Given the description of an element on the screen output the (x, y) to click on. 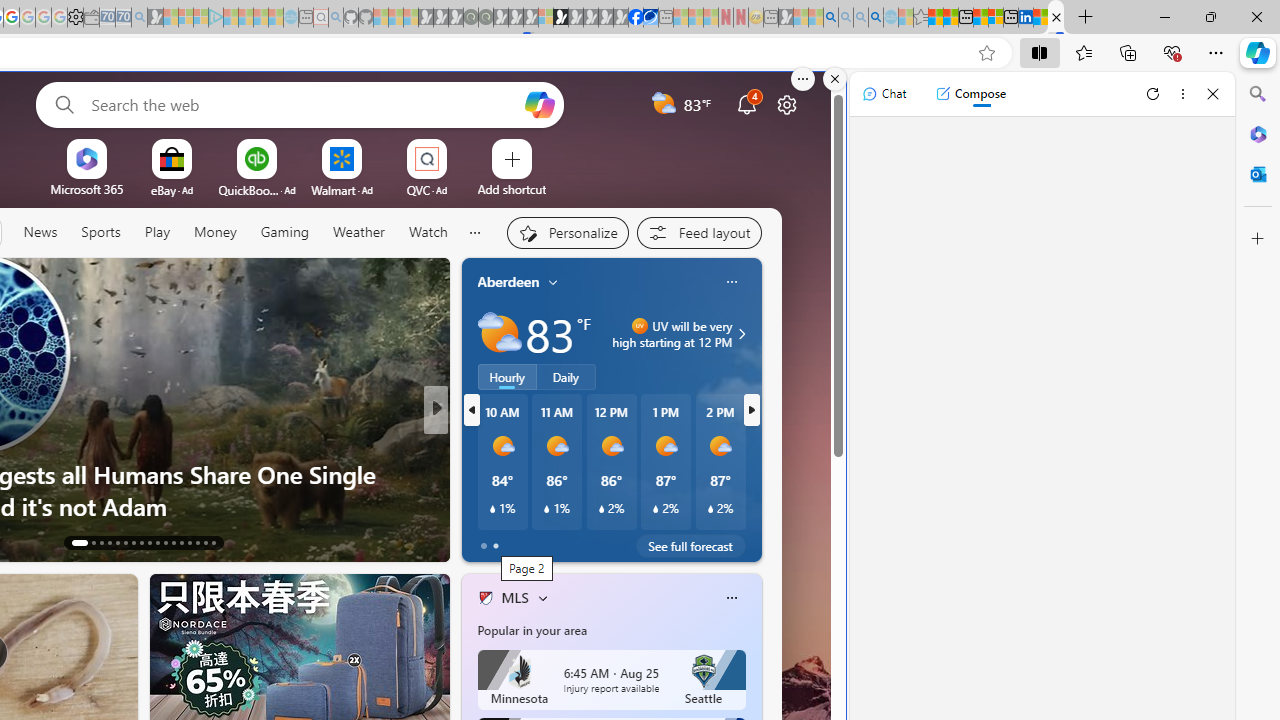
How To Borrow From Your Home Without Touching Your Mortgage (758, 489)
Aberdeen (508, 281)
See full forecast (690, 546)
AutomationID: tab-26 (189, 542)
3k Like (487, 541)
Weather (358, 232)
